Given the description of an element on the screen output the (x, y) to click on. 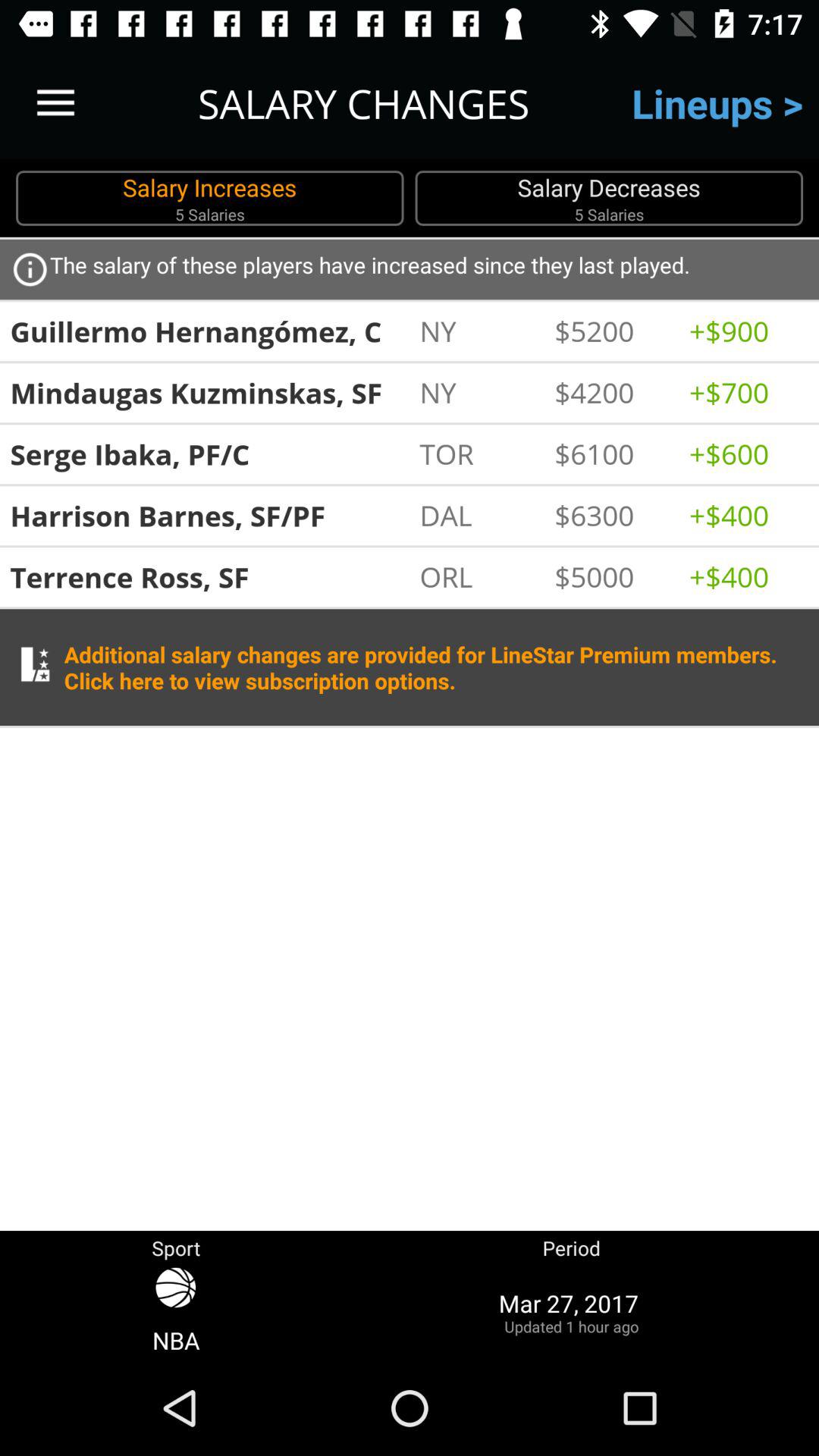
press item to the left of the $5000 item (478, 576)
